Given the description of an element on the screen output the (x, y) to click on. 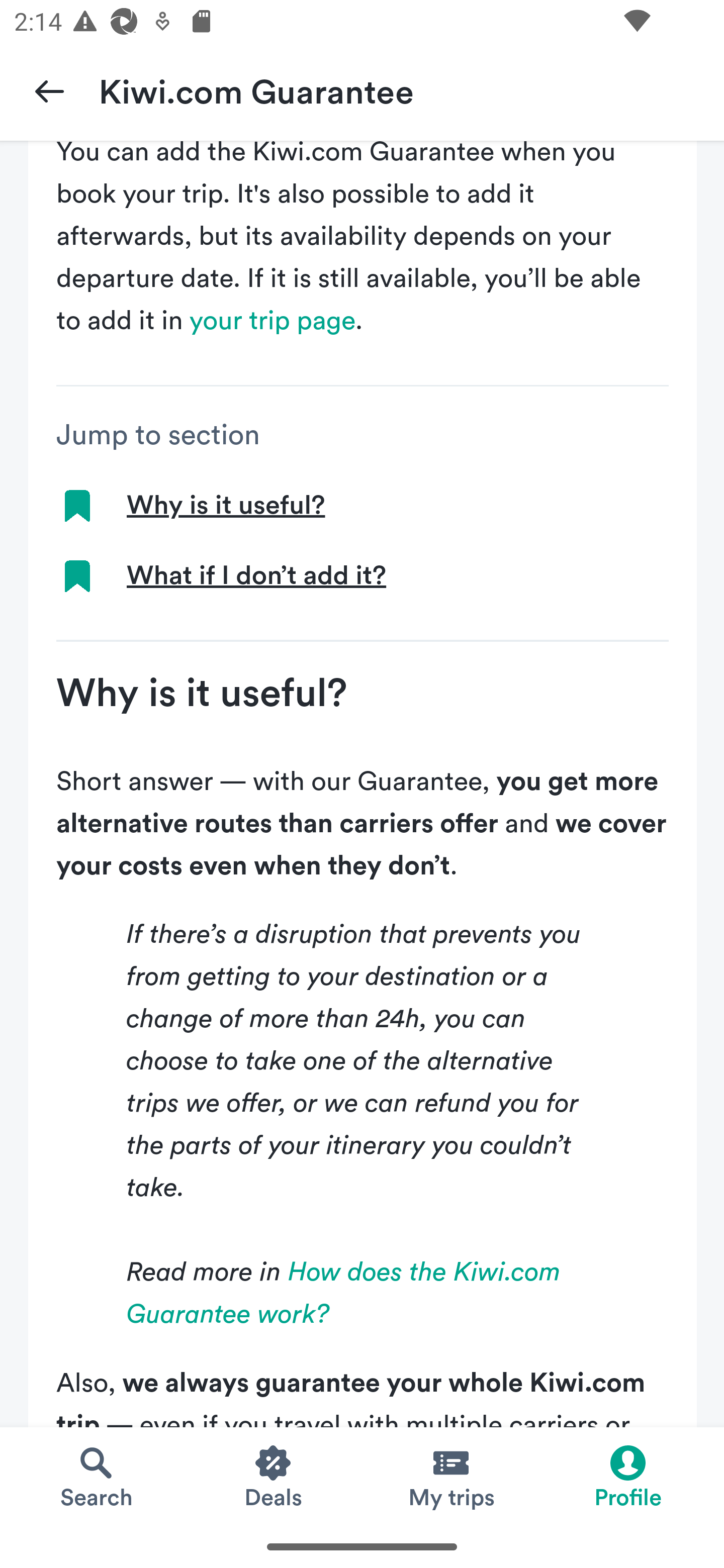
Navigate up (49, 90)
your trip page (272, 321)
Why is it useful? (225, 506)
What if I don’t add it? (256, 576)
How does the Kiwi.com Guarantee work? (343, 1294)
Search (95, 1475)
Deals (273, 1475)
My trips (450, 1475)
